Given the description of an element on the screen output the (x, y) to click on. 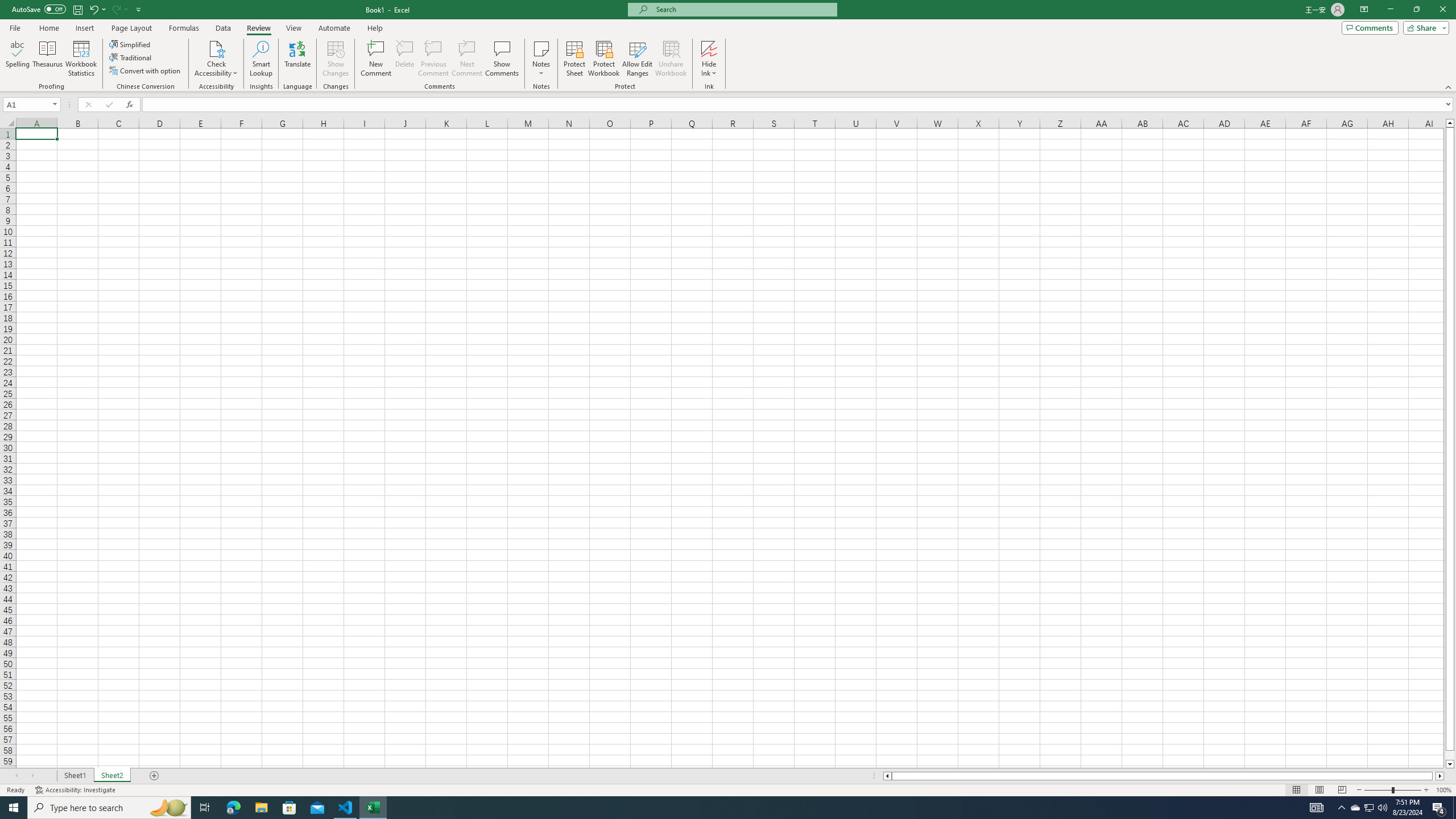
New Comment (376, 58)
Hide Ink (708, 48)
Show Changes (335, 58)
Notes (541, 58)
Unshare Workbook (670, 58)
Check Accessibility (215, 58)
